Given the description of an element on the screen output the (x, y) to click on. 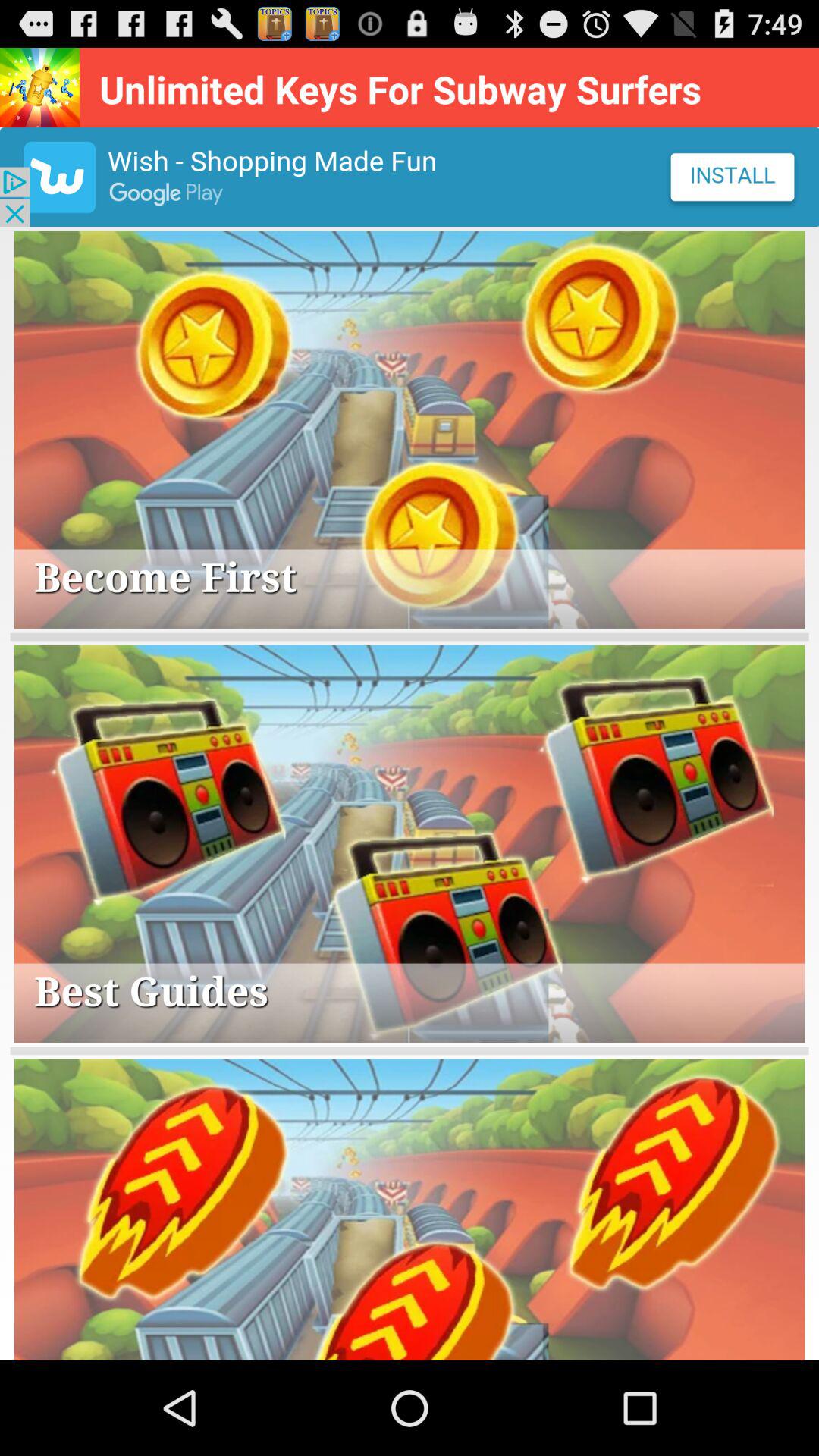
view advertisement (409, 176)
